Given the description of an element on the screen output the (x, y) to click on. 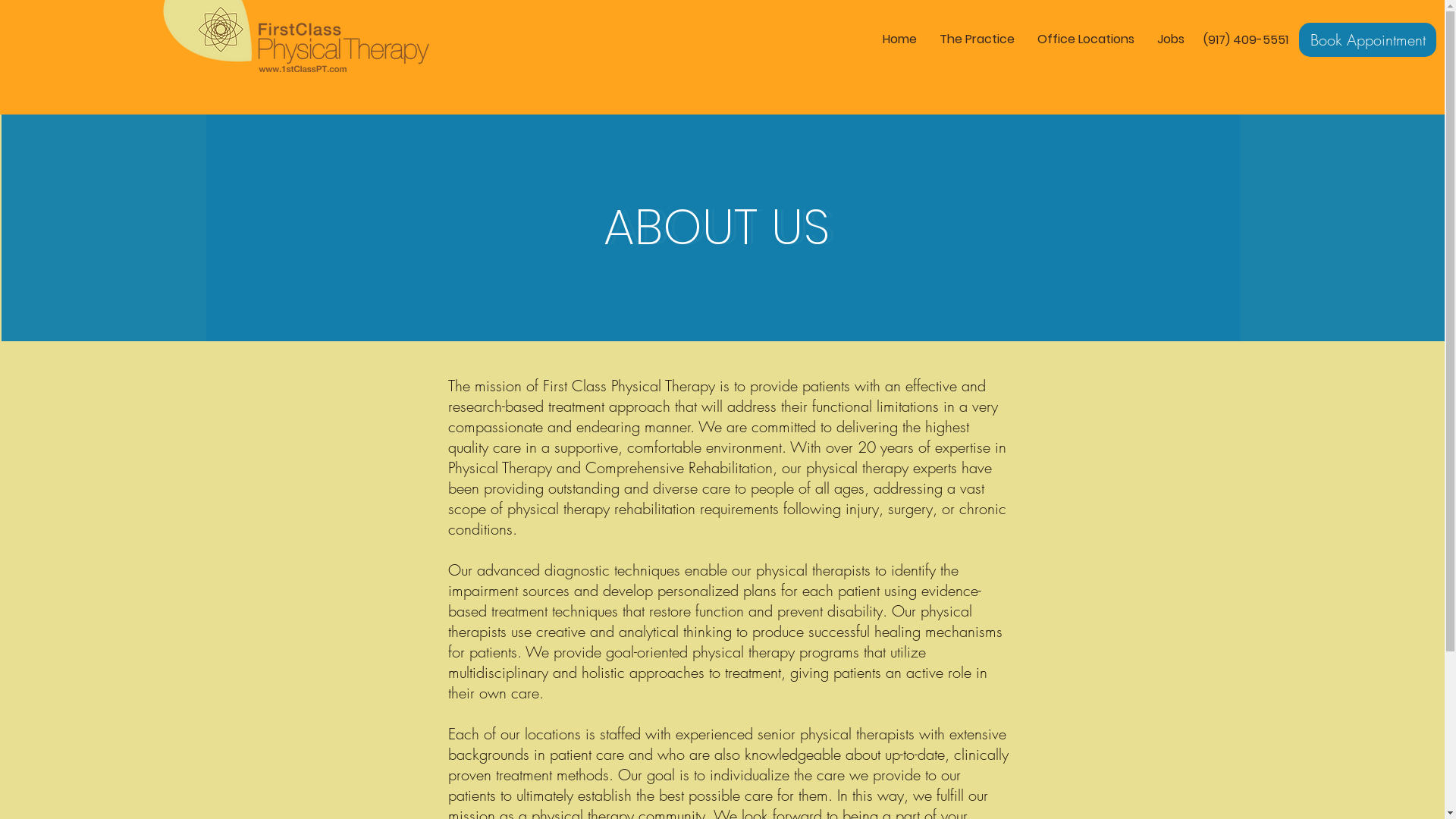
Book Appointment Element type: text (1367, 39)
Home Element type: text (899, 39)
Office Locations Element type: text (1085, 39)
Jobs Element type: text (1170, 39)
 (917) 409-5551 Element type: text (1244, 39)
First Class Physical Therapy Element type: hover (297, 36)
